Given the description of an element on the screen output the (x, y) to click on. 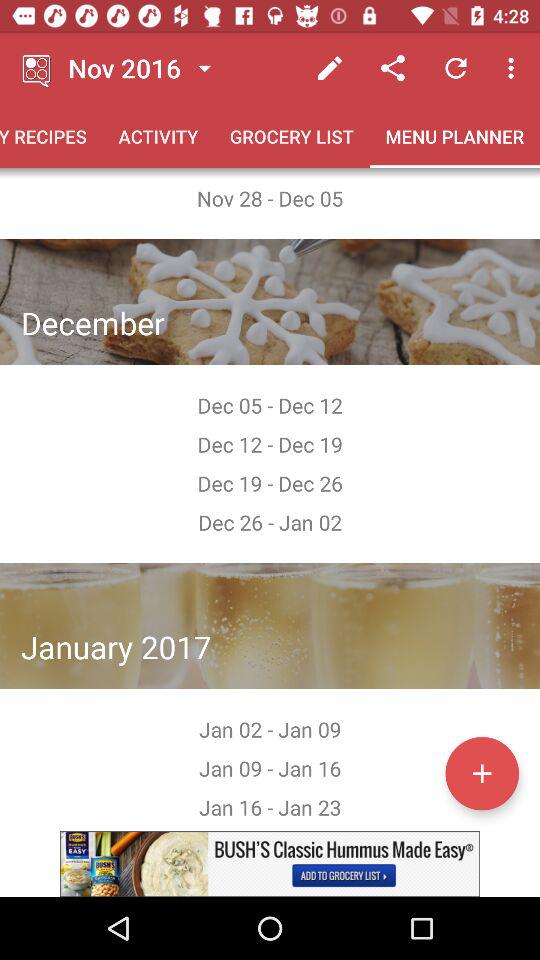
go to advertisement page (270, 864)
